Given the description of an element on the screen output the (x, y) to click on. 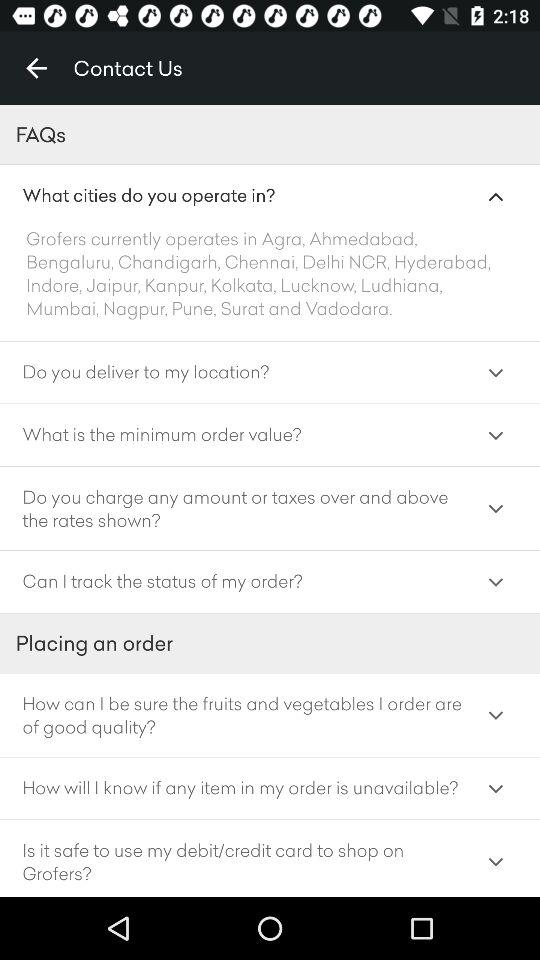
choose the icon at the top left corner (36, 67)
